Given the description of an element on the screen output the (x, y) to click on. 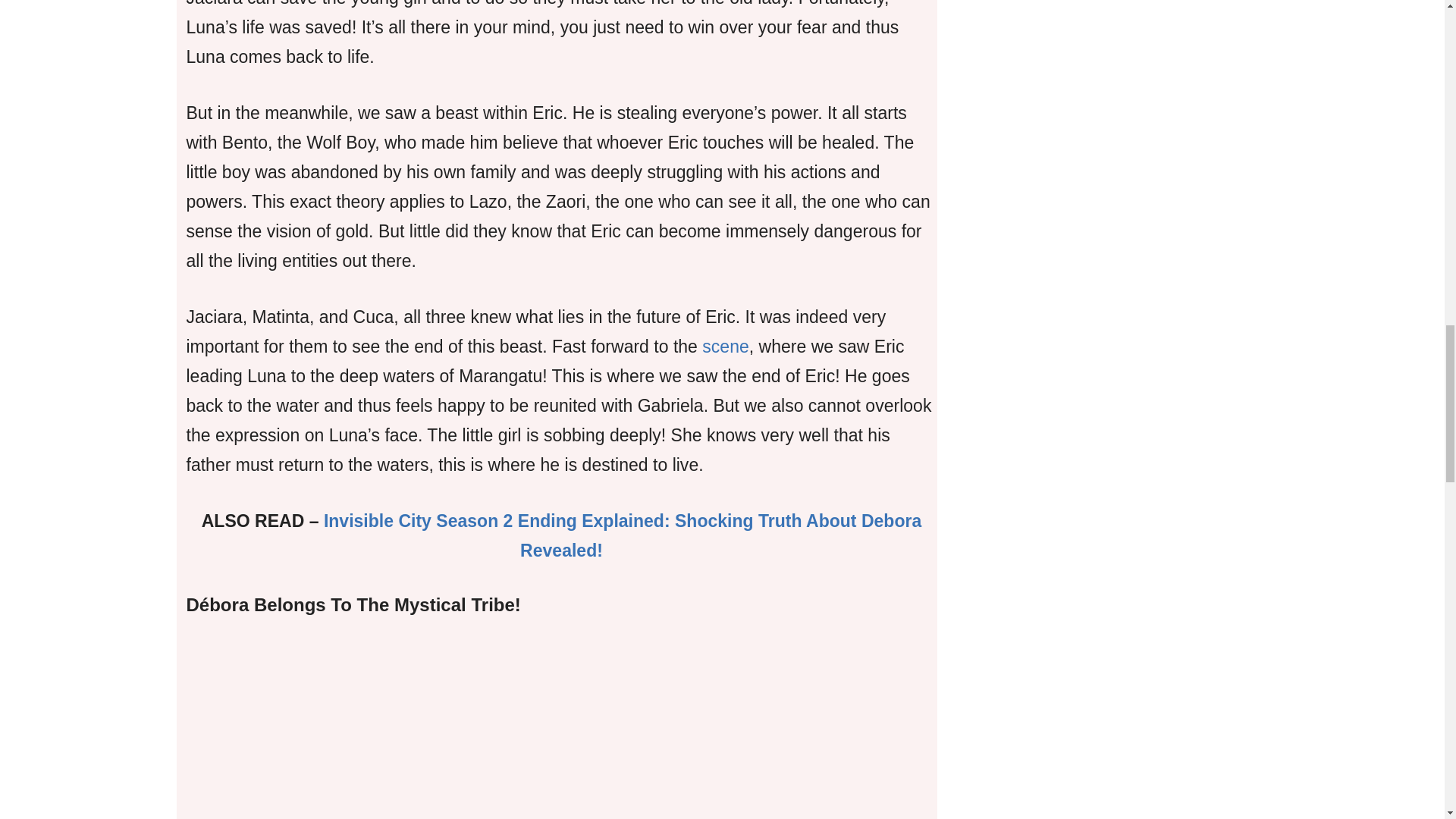
scene (724, 346)
